Given the description of an element on the screen output the (x, y) to click on. 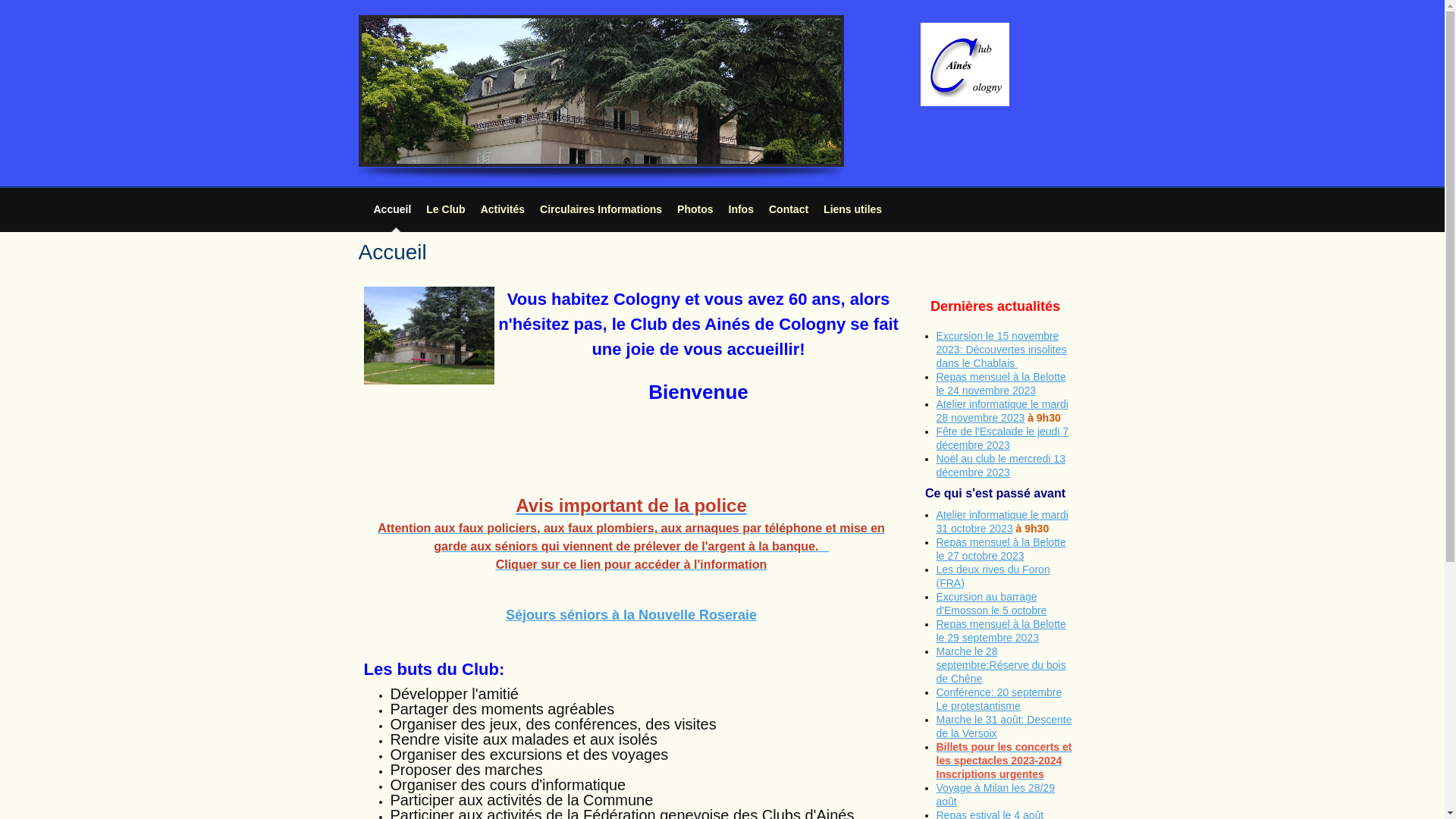
A Element type: text (938, 404)
Le Club Element type: text (445, 209)
Avis important de la police Element type: text (630, 505)
Contact Element type: text (788, 209)
A Element type: text (938, 514)
Infos Element type: text (740, 209)
telier informatique le mardi 28 novembre 2023 Element type: text (1001, 410)
Les deux rives du Foron (FRA) Element type: text (992, 576)
telier informatique le mardi 31 octobre 2023 Element type: text (1001, 521)
Liens utiles Element type: text (852, 209)
Photos Element type: text (694, 209)
Accueil Element type: text (392, 209)
Excursion au barrage d'Emosson le 5 octobre Element type: text (990, 603)
Circulaires Informations Element type: text (600, 209)
